Given the description of an element on the screen output the (x, y) to click on. 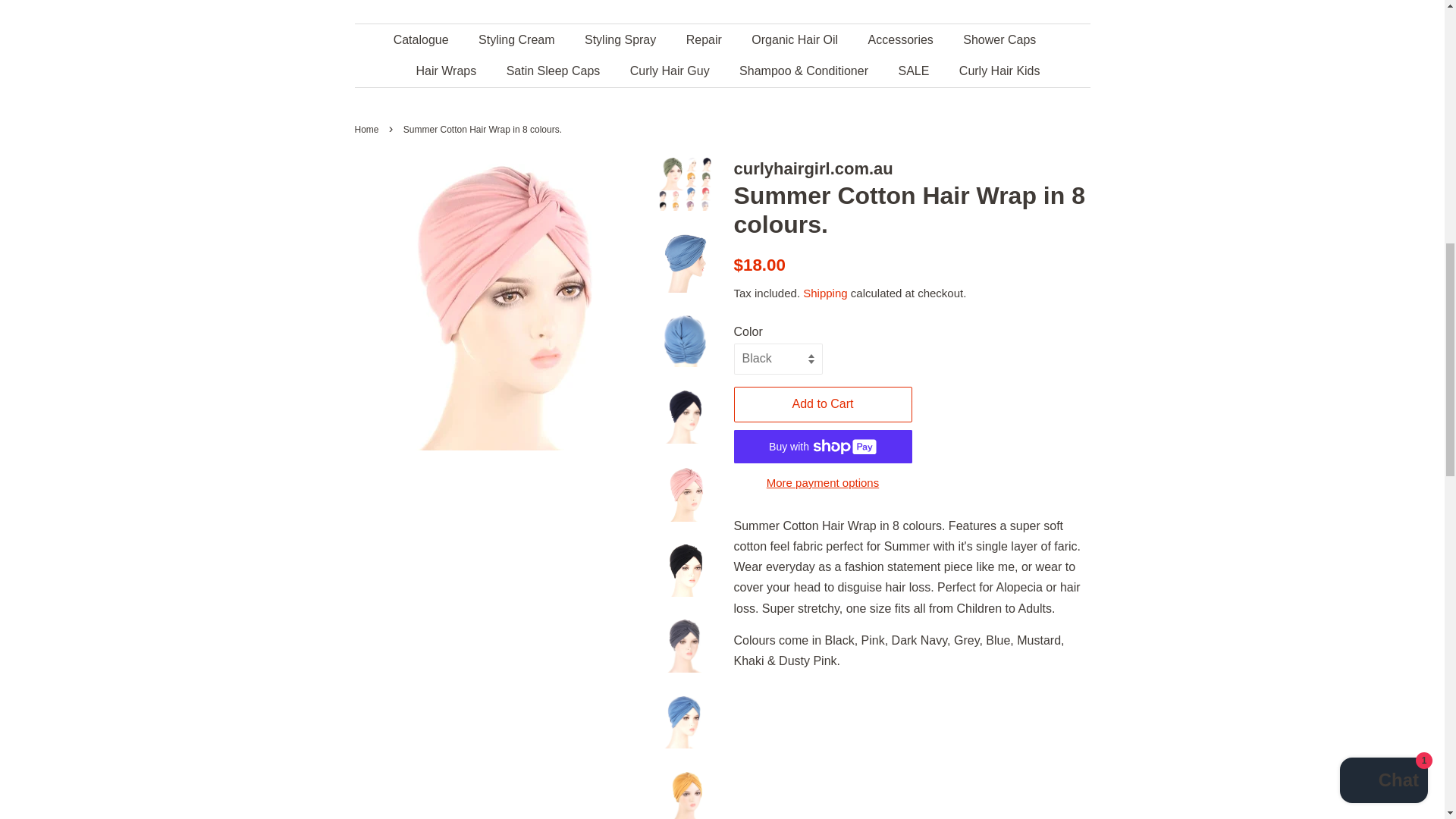
Organic Hair Oil (796, 39)
Accessories (903, 39)
Curly Hair Guy (671, 70)
Hair Wraps (448, 70)
Catalogue (428, 39)
Back to the frontpage (368, 129)
Shower Caps (1001, 39)
SALE (914, 70)
Styling Cream (518, 39)
Styling Spray (622, 39)
Satin Sleep Caps (555, 70)
Curly Hair Kids (994, 70)
Repair (705, 39)
Home (368, 129)
